Given the description of an element on the screen output the (x, y) to click on. 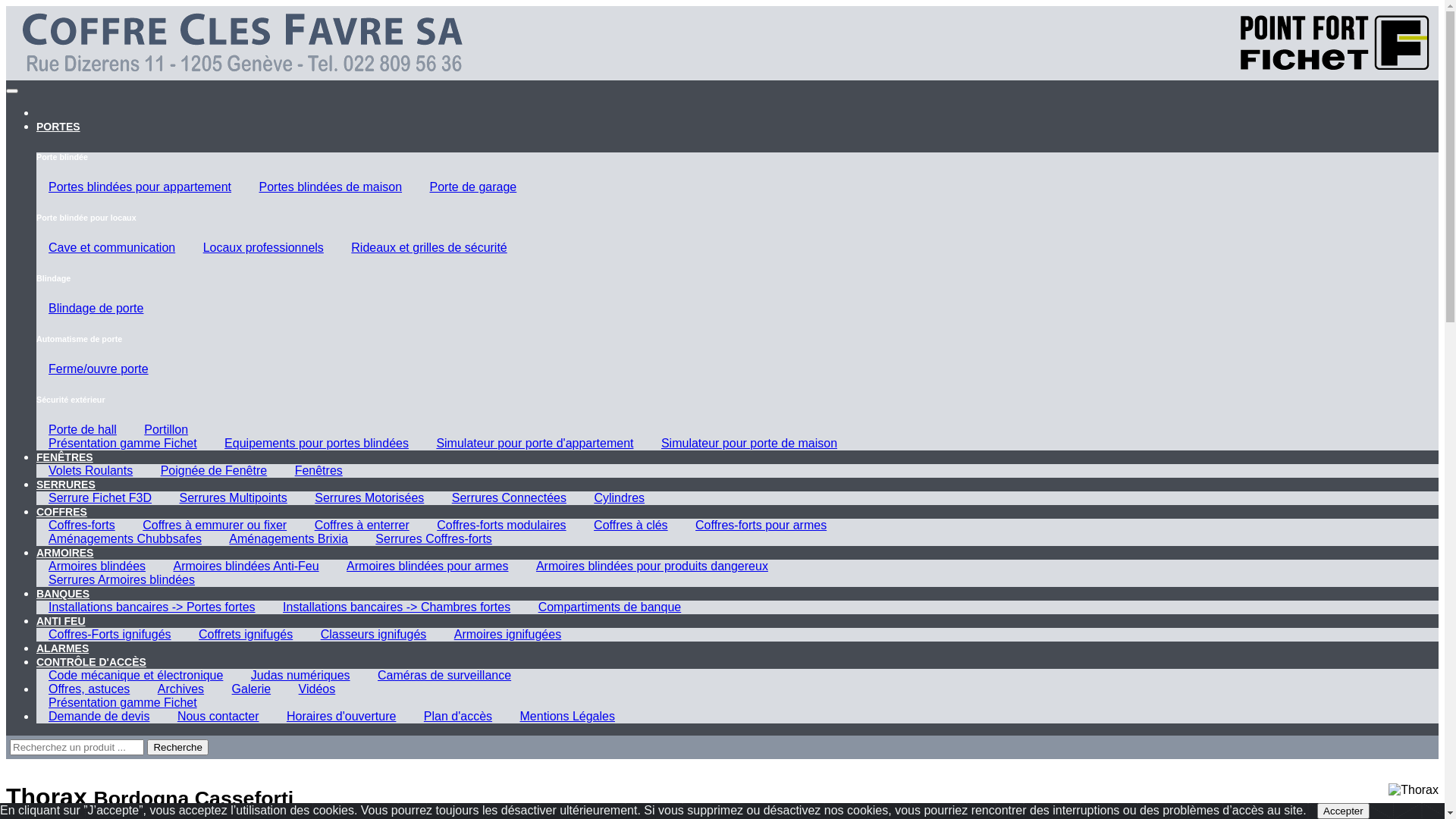
Volets Roulants Element type: text (90, 469)
BANQUES Element type: text (62, 593)
Serrures Coffres-forts Element type: text (433, 538)
Recherche Element type: text (177, 747)
Porte de hall Element type: text (82, 428)
Demande de devis Element type: text (98, 715)
ARMOIRES Element type: text (64, 552)
Coffres-forts Element type: text (81, 524)
Serrure Fichet F3D Element type: text (99, 497)
COFFRES Element type: text (61, 511)
Offres, astuces Element type: text (88, 688)
Porte de garage Element type: text (473, 186)
Cave et communication Element type: text (111, 246)
Simulateur pour porte d'appartement Element type: text (534, 442)
Serrures Multipoints Element type: text (232, 497)
Ferme/ouvre porte Element type: text (98, 368)
Nous contacter Element type: text (218, 715)
Archives Element type: text (180, 688)
Coffres-forts pour armes Element type: text (760, 524)
Cylindres Element type: text (618, 497)
Thorax Element type: hover (1413, 790)
Compartiments de banque Element type: text (609, 606)
Locaux professionnels Element type: text (263, 246)
Coffres-forts modulaires Element type: text (500, 524)
ALARMES Element type: text (62, 648)
Installations bancaires -> Portes fortes Element type: text (151, 606)
Horaires d'ouverture Element type: text (340, 715)
Portillon Element type: text (165, 428)
Installations bancaires -> Chambres fortes Element type: text (396, 606)
Blindage de porte Element type: text (95, 307)
PORTES Element type: text (58, 126)
SERRURES Element type: text (65, 484)
Galerie Element type: text (251, 688)
ANTI FEU Element type: text (60, 621)
Simulateur pour porte de maison Element type: text (749, 442)
